Given the description of an element on the screen output the (x, y) to click on. 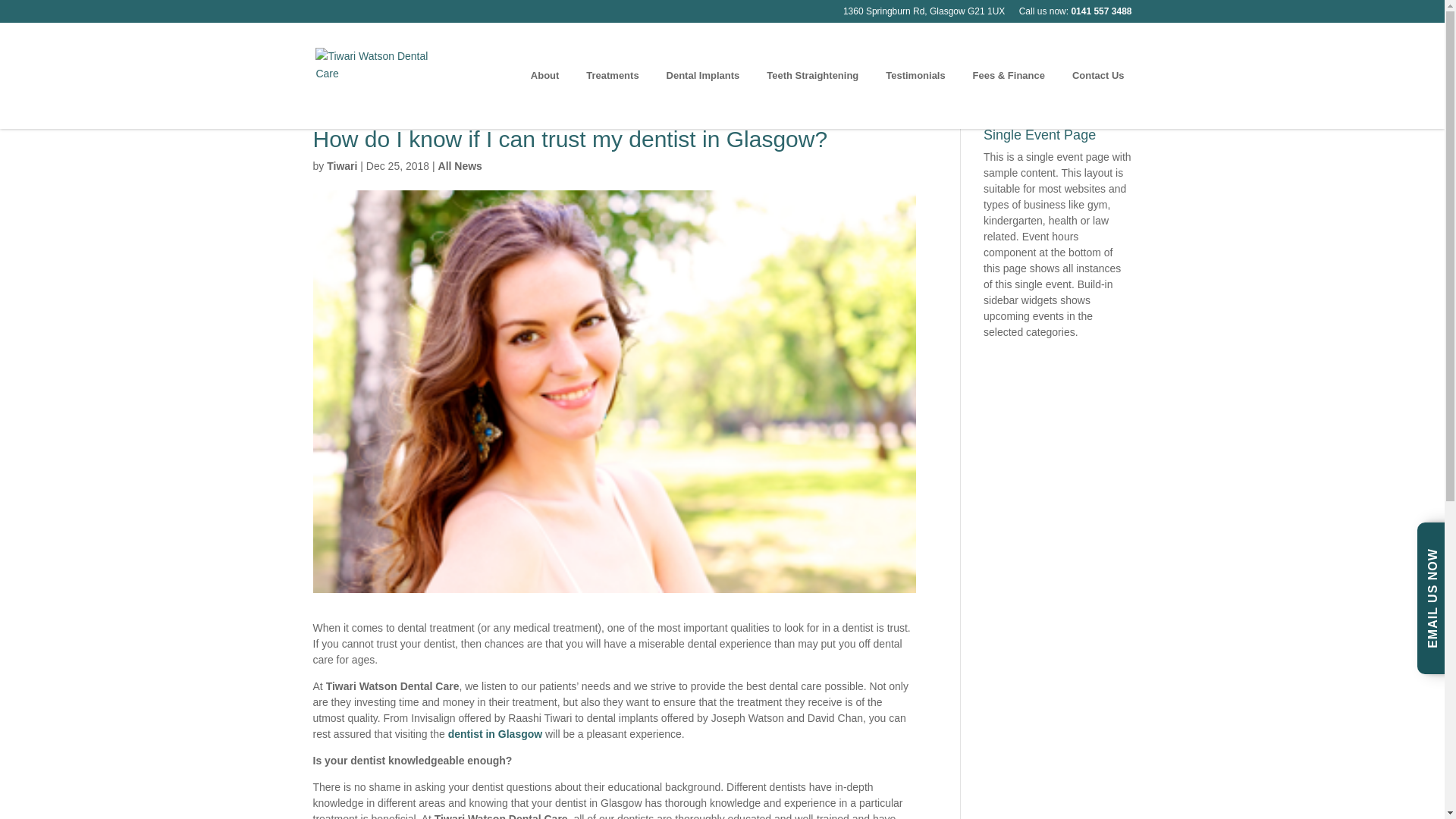
Treatments (616, 99)
Dental Implants (707, 99)
Teeth Straightening (816, 99)
Testimonials (919, 99)
Call us now: 0141 557 3488 (1075, 14)
1360 Springburn Rd, Glasgow G21 1UX (923, 14)
Posts by Tiwari (341, 165)
